Given the description of an element on the screen output the (x, y) to click on. 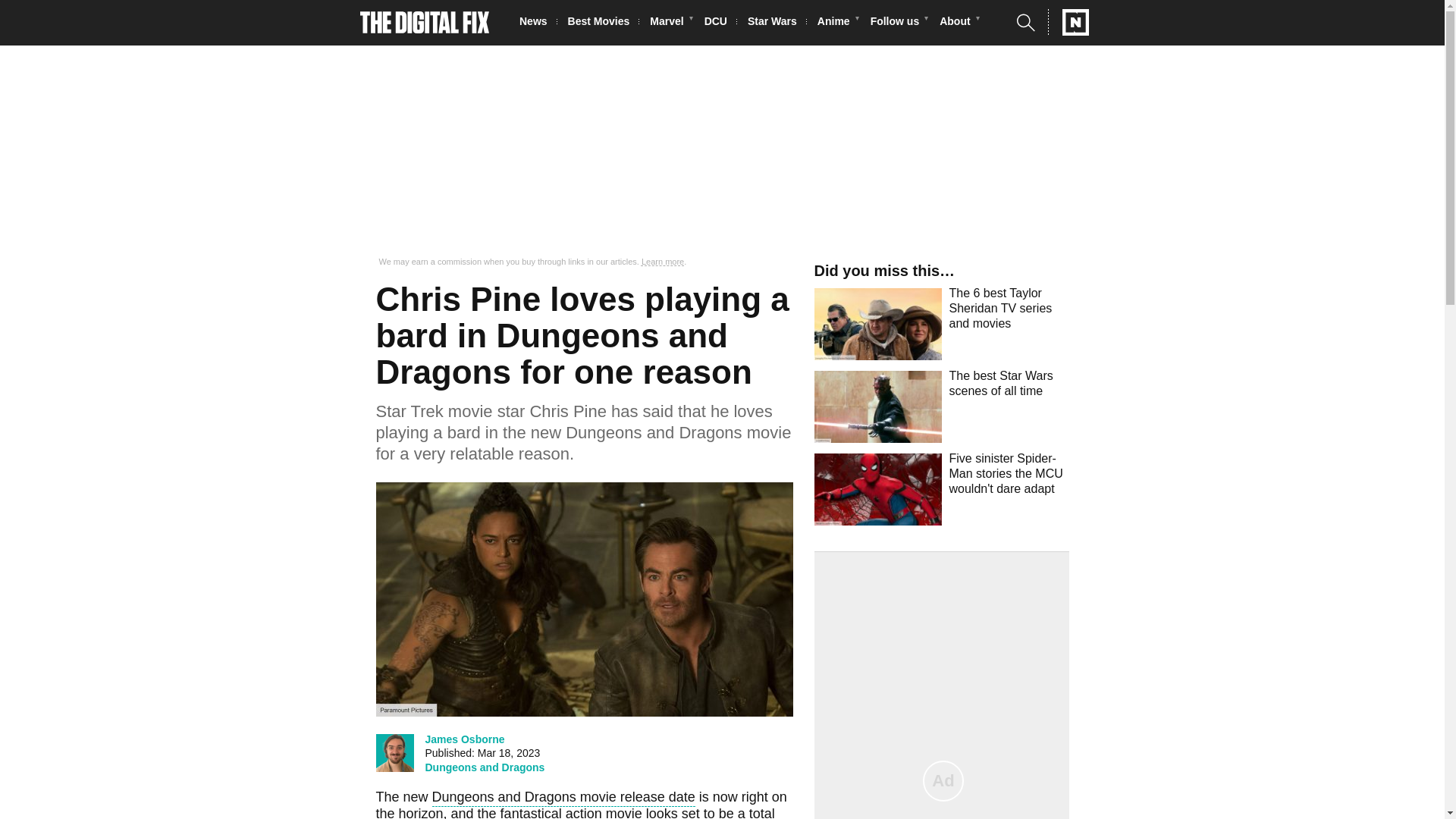
Network N Media (1068, 22)
action movie (604, 812)
Marvel (671, 22)
Dungeons and Dragons movie release date (563, 798)
Star Wars News (777, 22)
Learn more (663, 261)
Star Wars (777, 22)
James Osborne (464, 739)
Follow us (899, 22)
Dungeons and Dragons (484, 767)
The Digital Fix (424, 22)
Anime (837, 22)
Marvel Cinematic Universe News (671, 22)
Best Movies (603, 22)
Anime News (837, 22)
